Given the description of an element on the screen output the (x, y) to click on. 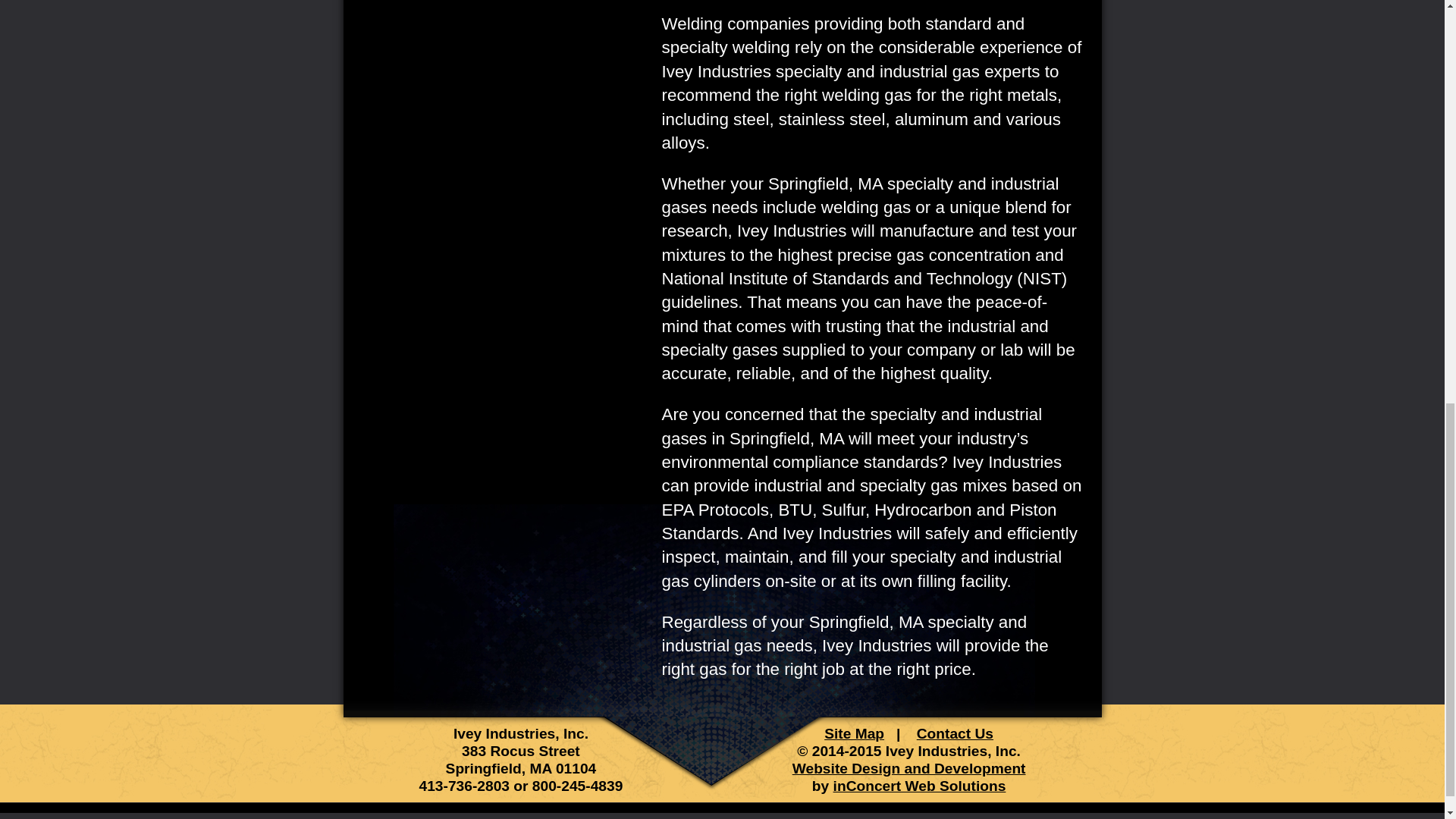
inConcert Web Solutions (919, 785)
Site Map (853, 733)
Contact Us (954, 733)
Website Design and Development (909, 768)
